Given the description of an element on the screen output the (x, y) to click on. 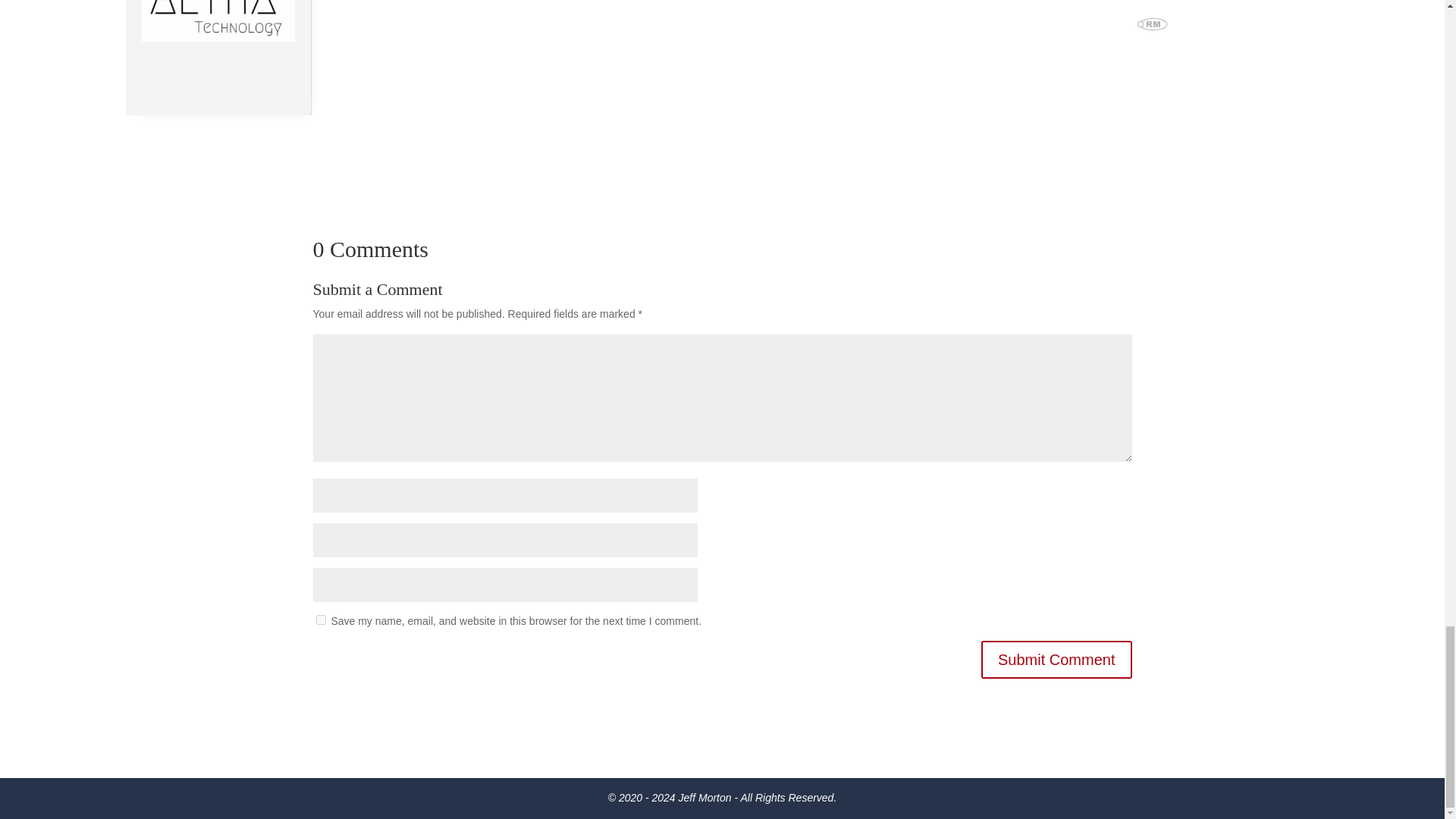
yes (319, 619)
